Given the description of an element on the screen output the (x, y) to click on. 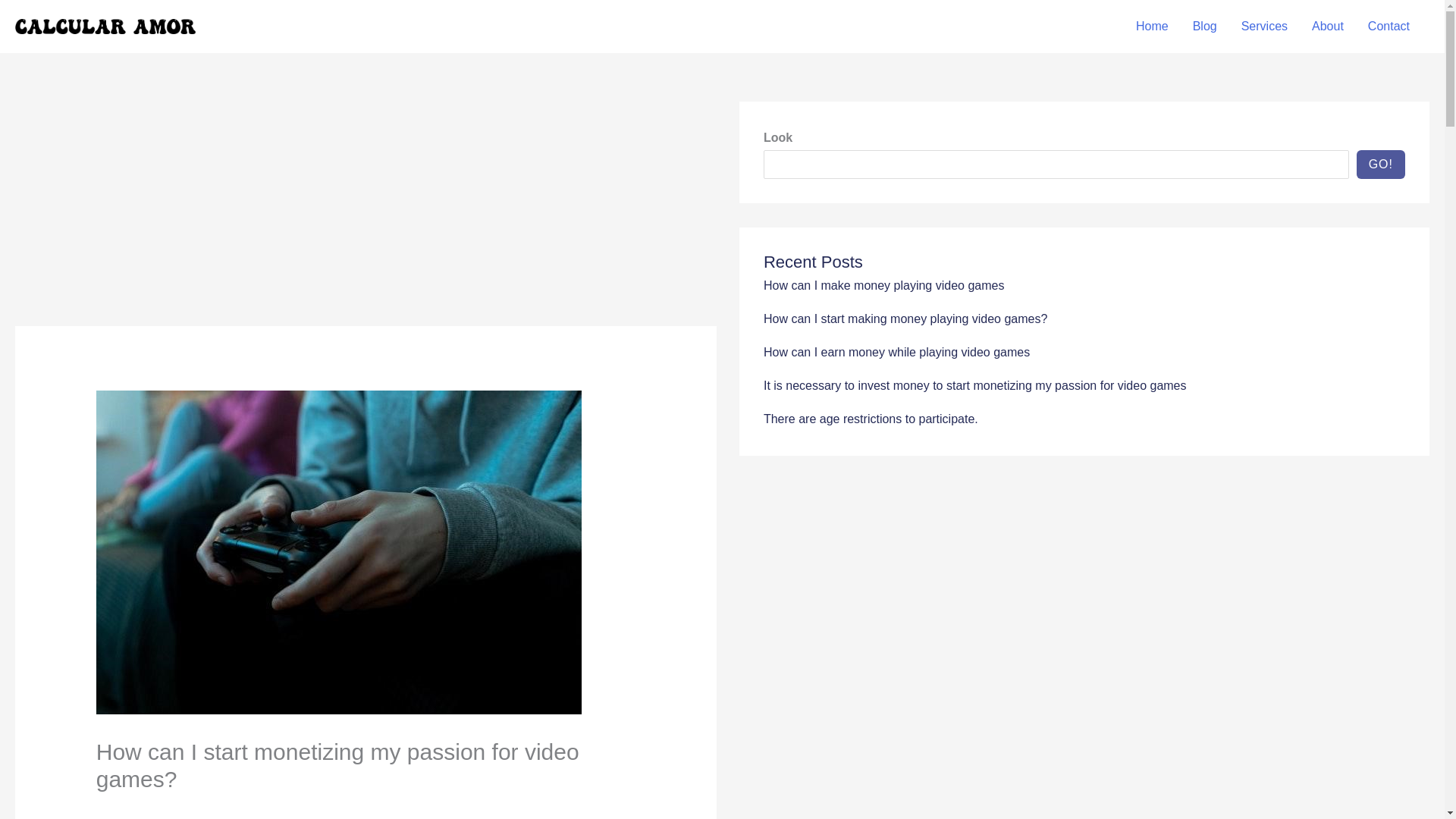
Blog (223, 809)
About (1327, 26)
Home (1152, 26)
Contact (1388, 26)
How can I earn money while playing video games (895, 351)
Deja un comentario (149, 809)
How can I make money playing video games (883, 285)
There are age restrictions to participate. (870, 418)
